Given the description of an element on the screen output the (x, y) to click on. 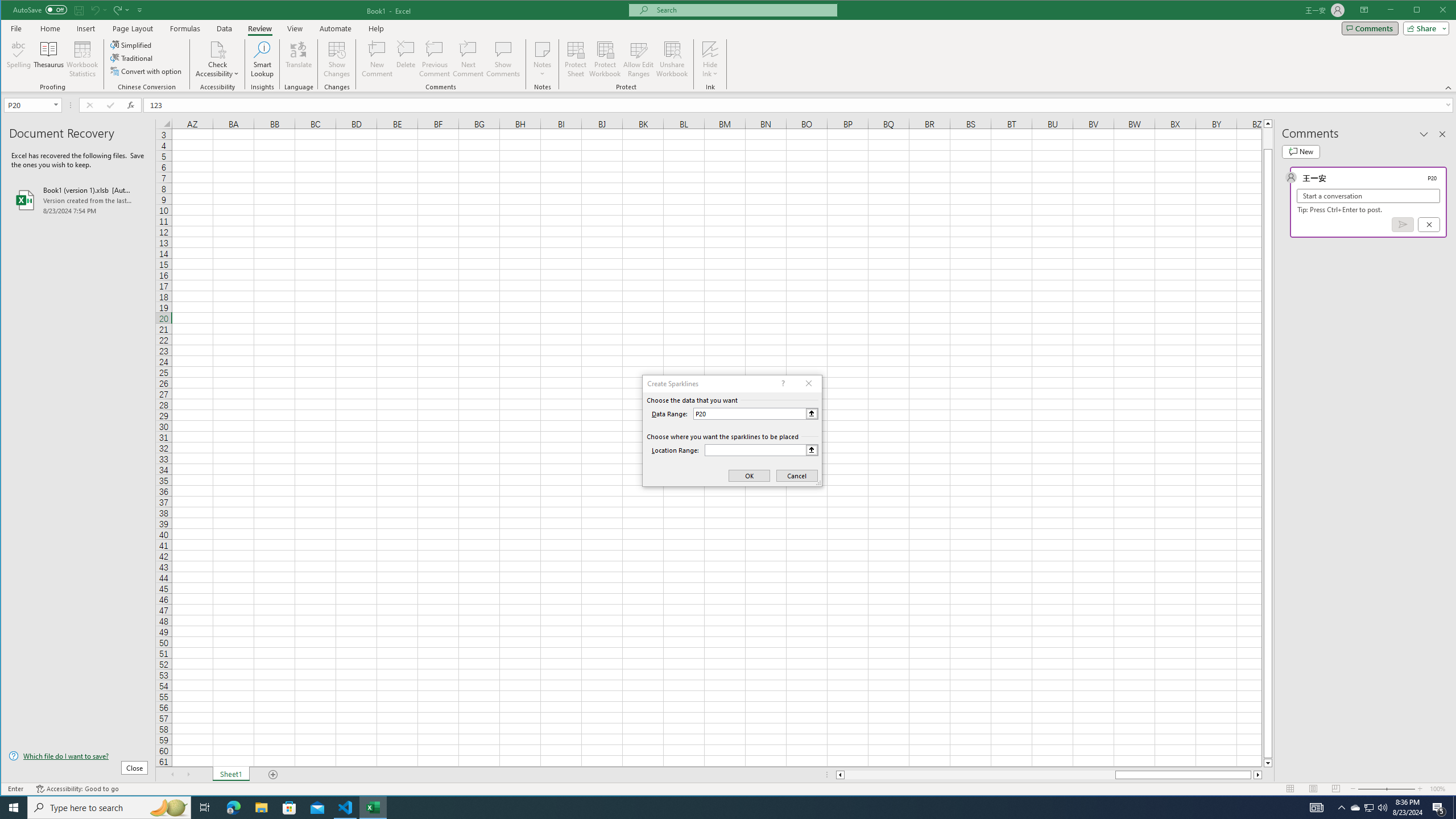
Start a conversation (1368, 195)
Previous Comment (434, 59)
Post comment (Ctrl + Enter) (1402, 224)
Allow Edit Ranges (638, 59)
Delete (405, 59)
Spelling... (18, 59)
Convert with option (146, 70)
